Given the description of an element on the screen output the (x, y) to click on. 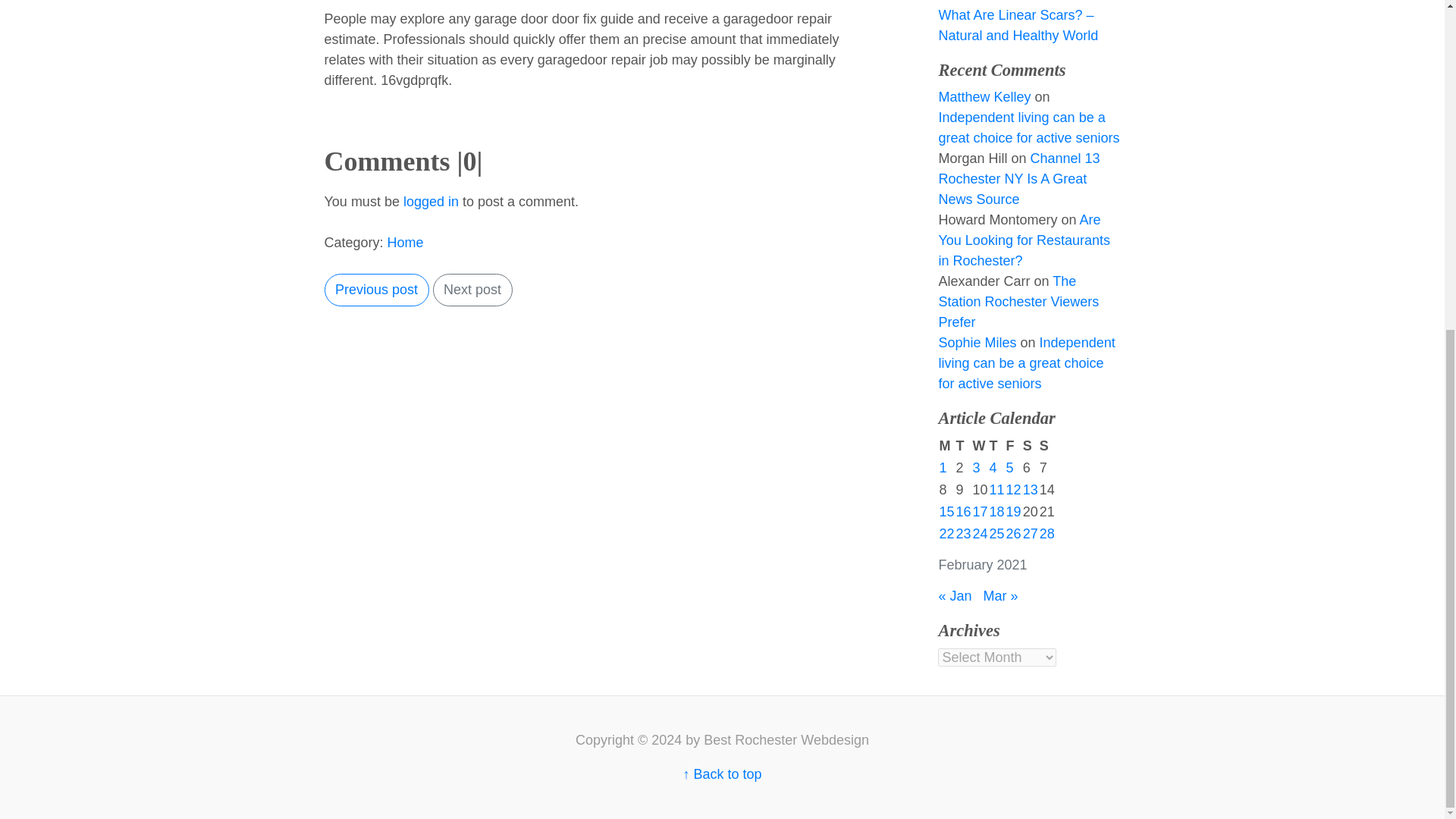
Are You Looking for Restaurants in Rochester? (1023, 240)
27 (1030, 533)
Independent living can be a great choice for active seniors (1028, 127)
Thursday (997, 445)
logged in (430, 201)
25 (997, 533)
1 (942, 467)
Friday (1014, 445)
28 (1046, 533)
Sunday (1047, 445)
Monday (946, 445)
18 (997, 511)
17 (980, 511)
5 (1009, 467)
Channel 13 Rochester NY Is A Great News Source (1018, 178)
